Given the description of an element on the screen output the (x, y) to click on. 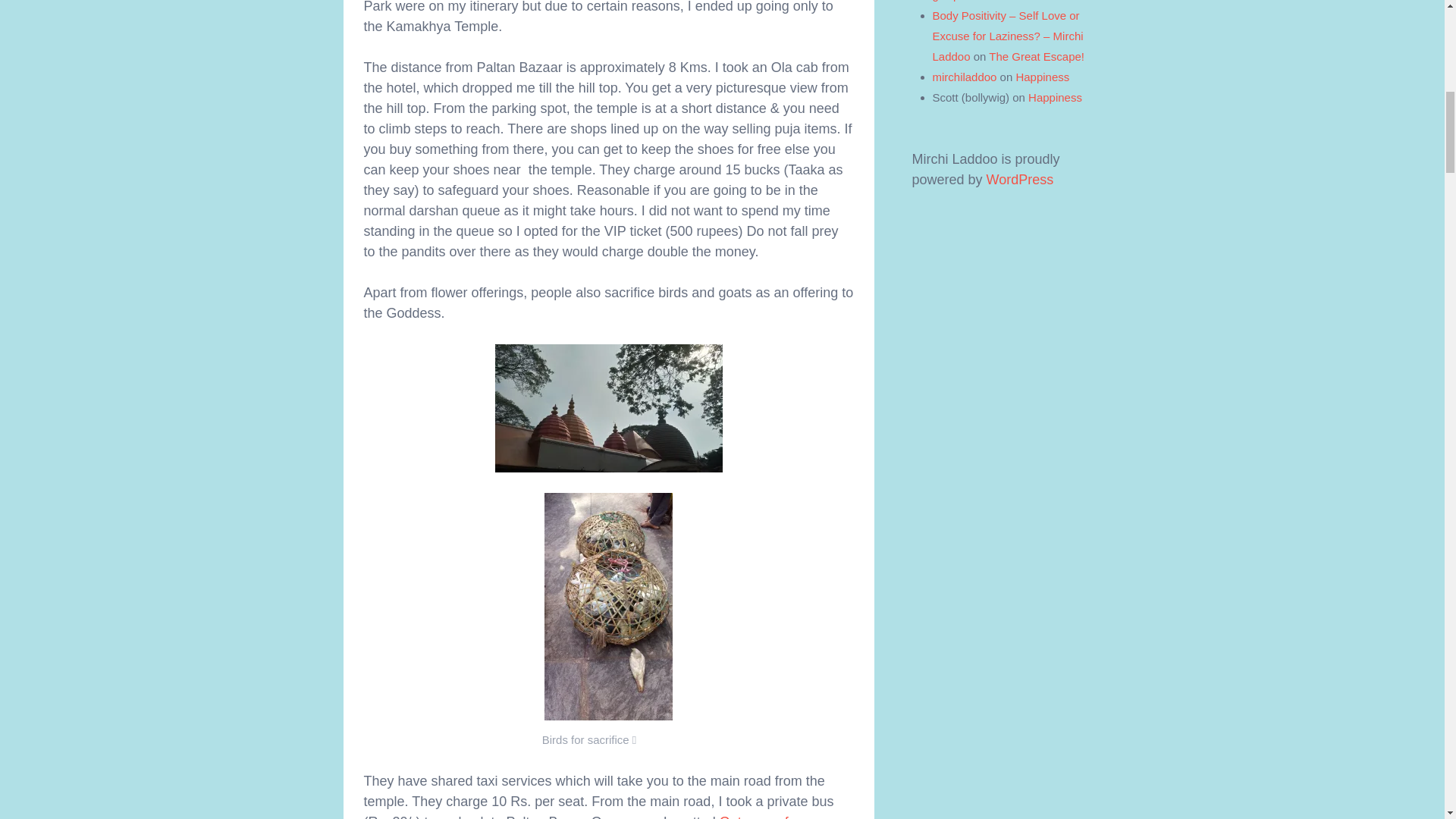
Gateway of Assam (576, 816)
